Given the description of an element on the screen output the (x, y) to click on. 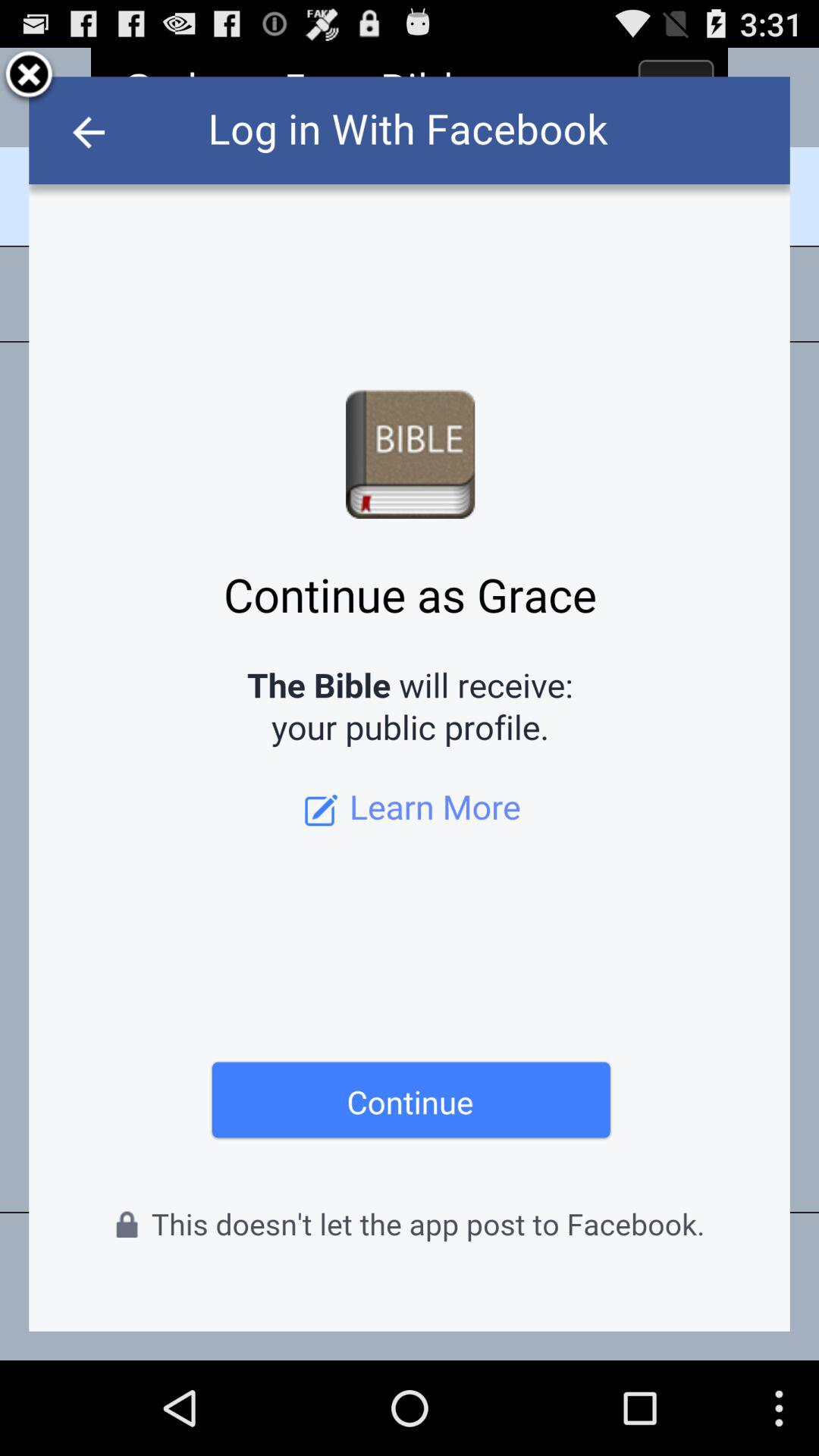
close window (29, 76)
